Given the description of an element on the screen output the (x, y) to click on. 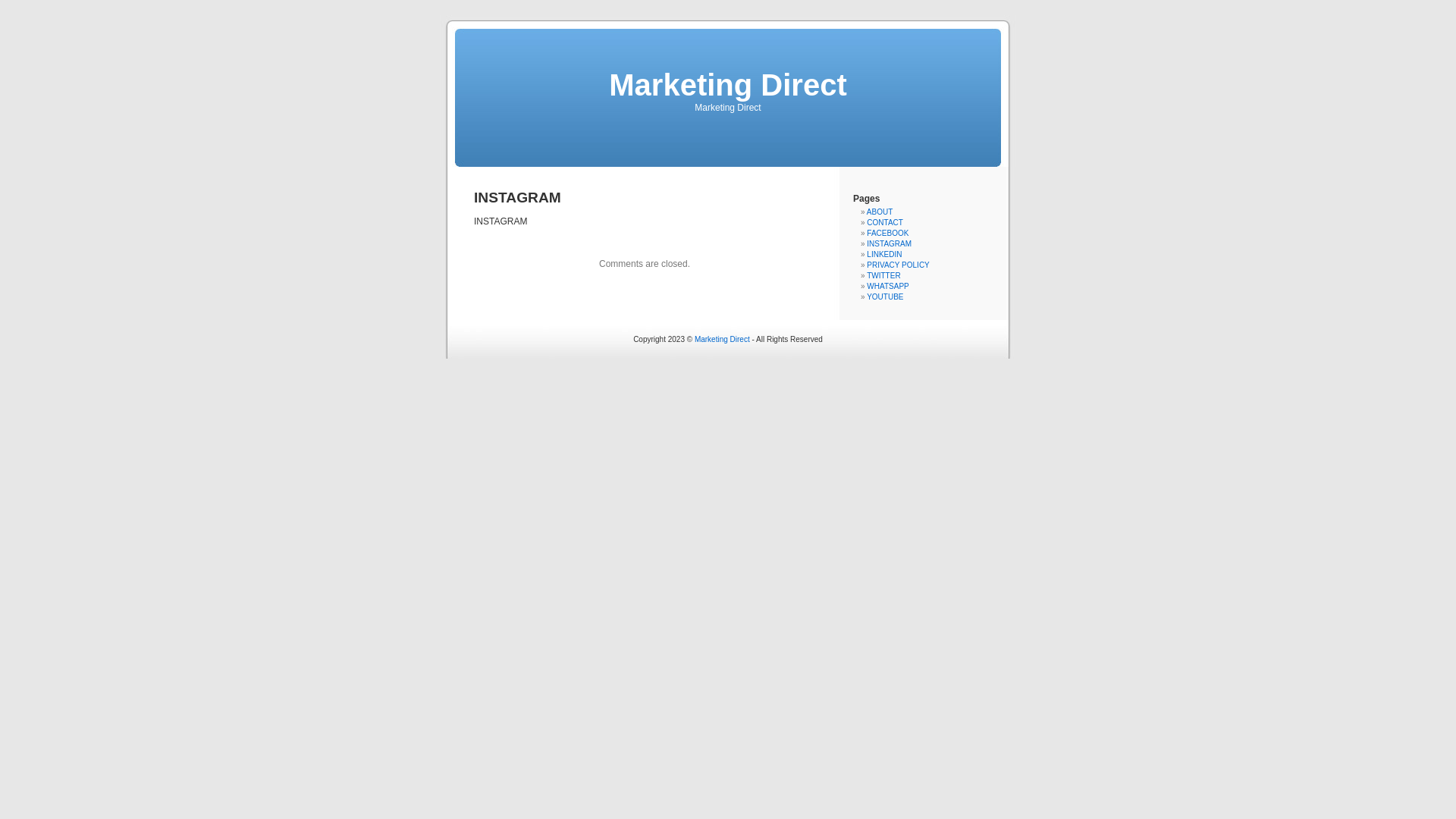
PRIVACY POLICY Element type: text (897, 264)
FACEBOOK Element type: text (887, 233)
TWITTER Element type: text (883, 275)
WHATSAPP Element type: text (887, 286)
CONTACT Element type: text (884, 222)
ABOUT Element type: text (879, 211)
Marketing Direct Element type: text (727, 84)
YOUTUBE Element type: text (884, 296)
LINKEDIN Element type: text (883, 254)
Marketing Direct Element type: text (721, 339)
INSTAGRAM Element type: text (888, 243)
